Given the description of an element on the screen output the (x, y) to click on. 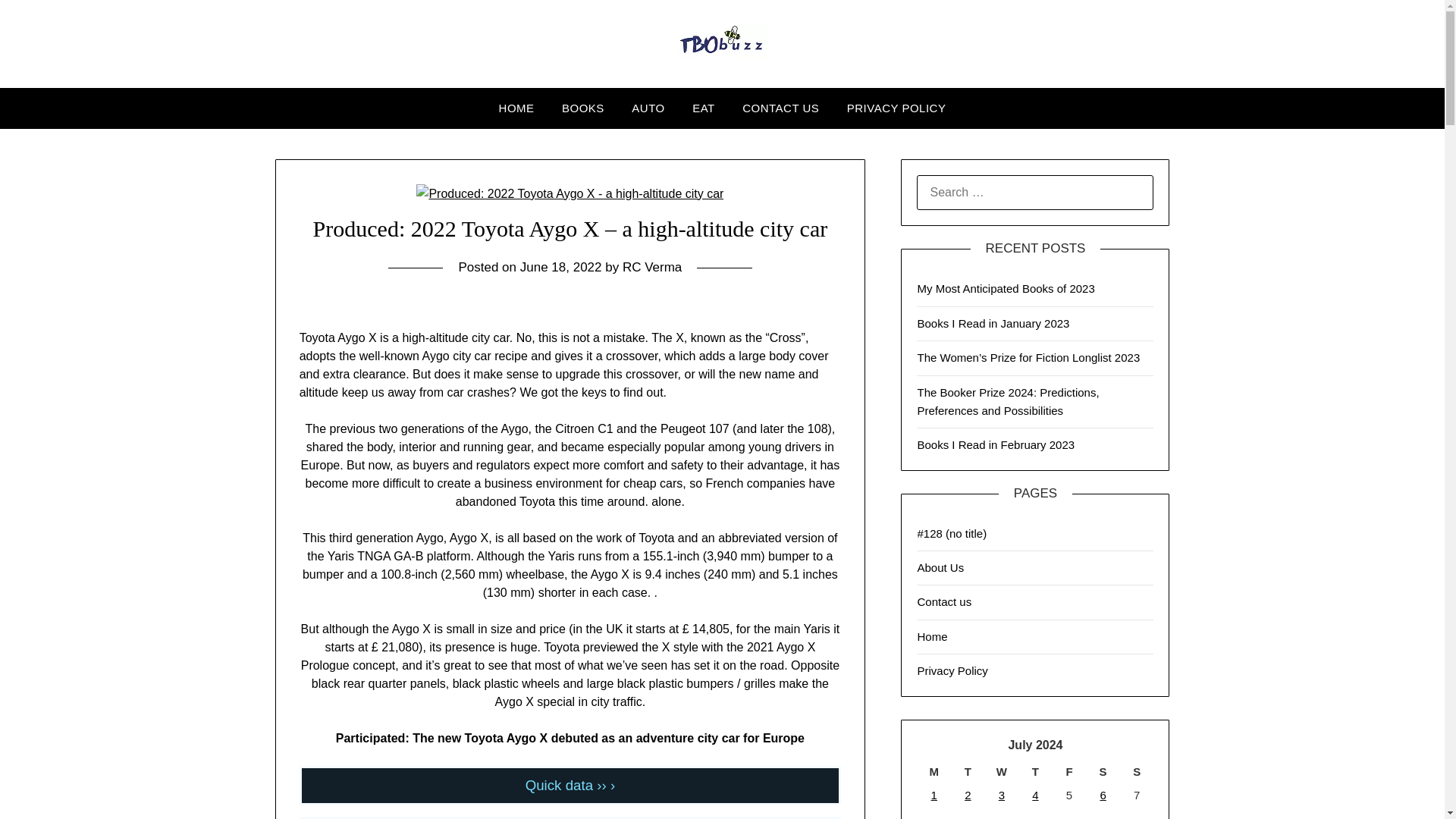
Contact us (944, 601)
My Most Anticipated Books of 2023 (1005, 287)
BOOKS (582, 107)
Home (932, 635)
June 18, 2022 (560, 267)
Sunday (1136, 771)
Thursday (1034, 771)
Books I Read in January 2023 (992, 323)
2 (967, 794)
Saturday (1102, 771)
4 (1035, 794)
Wednesday (1002, 771)
1 (934, 794)
CONTACT US (780, 107)
